Given the description of an element on the screen output the (x, y) to click on. 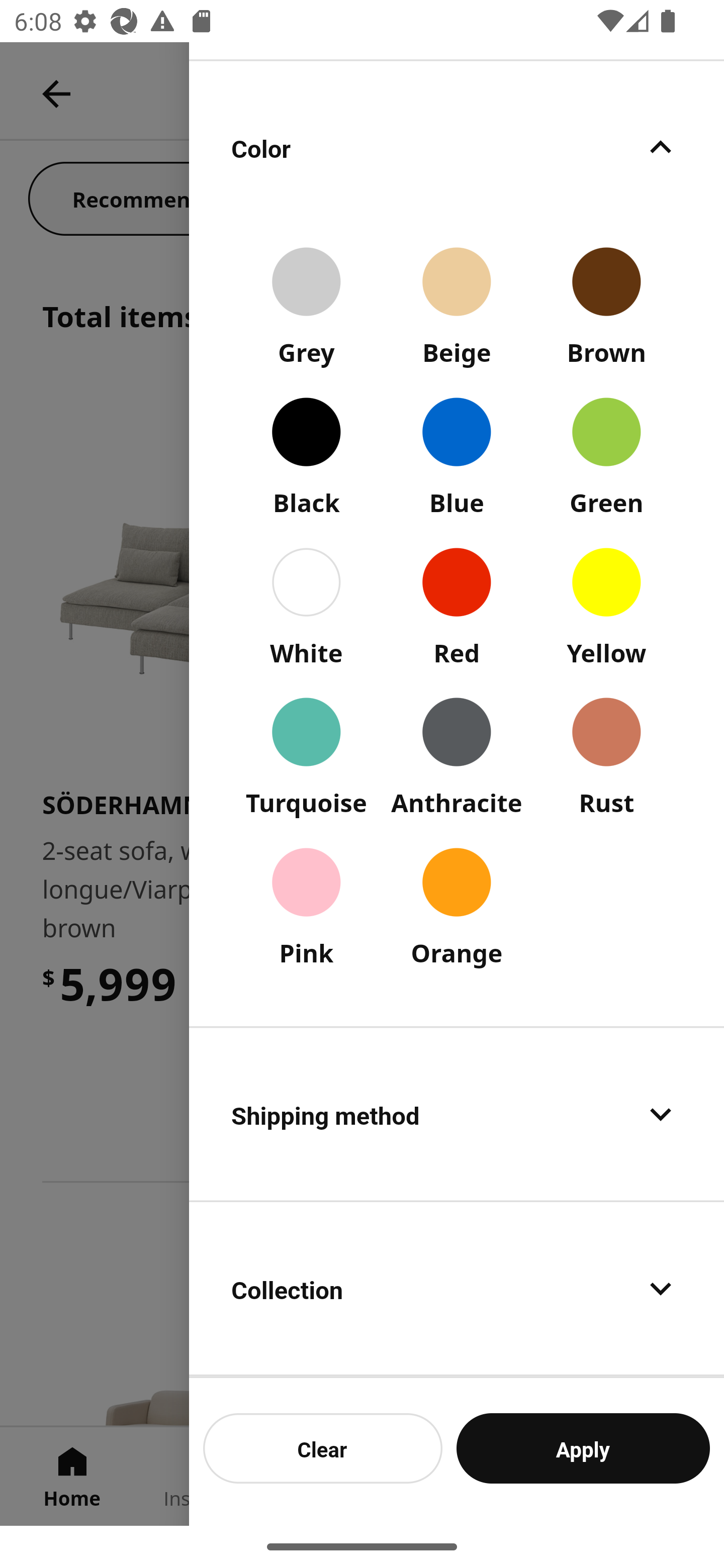
Color (456, 147)
Shipping method (456, 1113)
Collection (456, 1288)
Clear (322, 1447)
Apply (583, 1447)
